Given the description of an element on the screen output the (x, y) to click on. 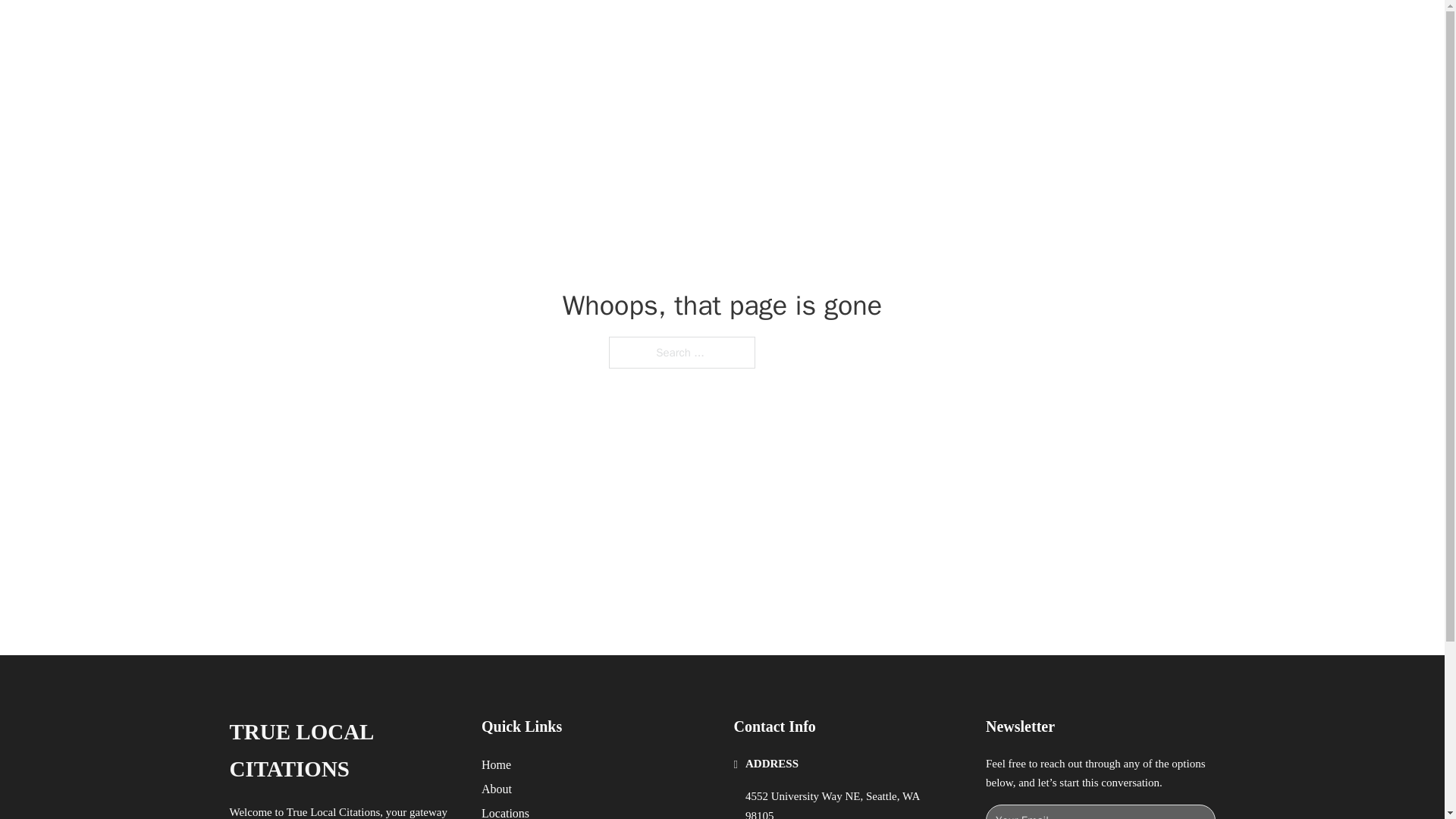
HOME (919, 29)
LOCATIONS (990, 29)
Home (496, 764)
TRUE LOCAL CITATIONS (343, 750)
TRUE LOCAL CITATIONS (426, 28)
Locations (505, 811)
About (496, 788)
